Given the description of an element on the screen output the (x, y) to click on. 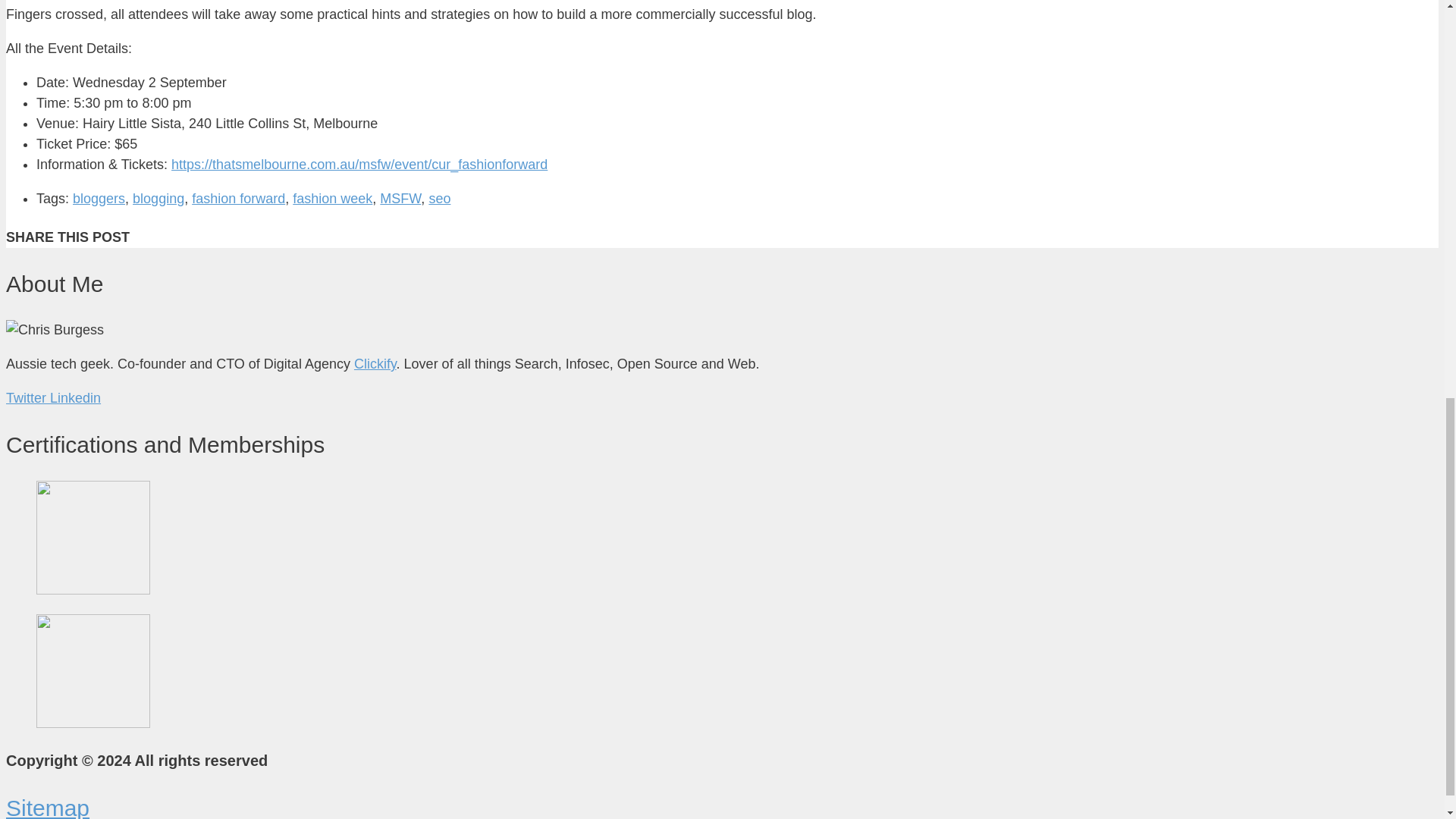
blogging (158, 198)
fashion forward (238, 198)
fashion week (332, 198)
Linkedin (74, 397)
MSFW (400, 198)
Clickify (374, 363)
seo (438, 198)
Twitter (27, 397)
bloggers (98, 198)
